Given the description of an element on the screen output the (x, y) to click on. 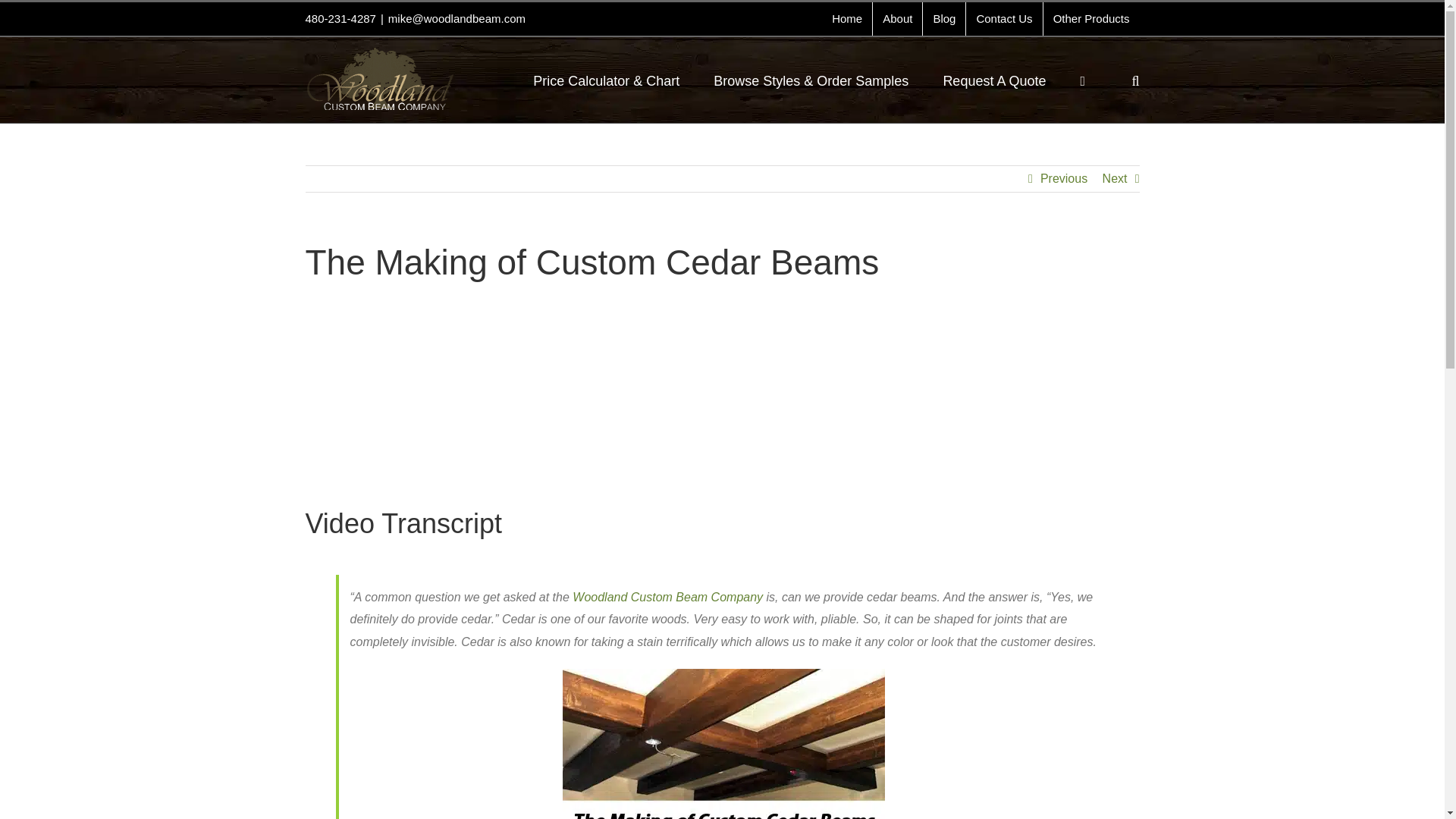
Contact Us (1004, 19)
Woodland Custom Beam Company (667, 596)
480-231-4287 (339, 18)
Request A Quote (993, 79)
Woodland Custom Beam Company (667, 596)
Home (847, 19)
Blog (944, 19)
About (896, 19)
Next (1114, 178)
Other Products (1091, 19)
